Given the description of an element on the screen output the (x, y) to click on. 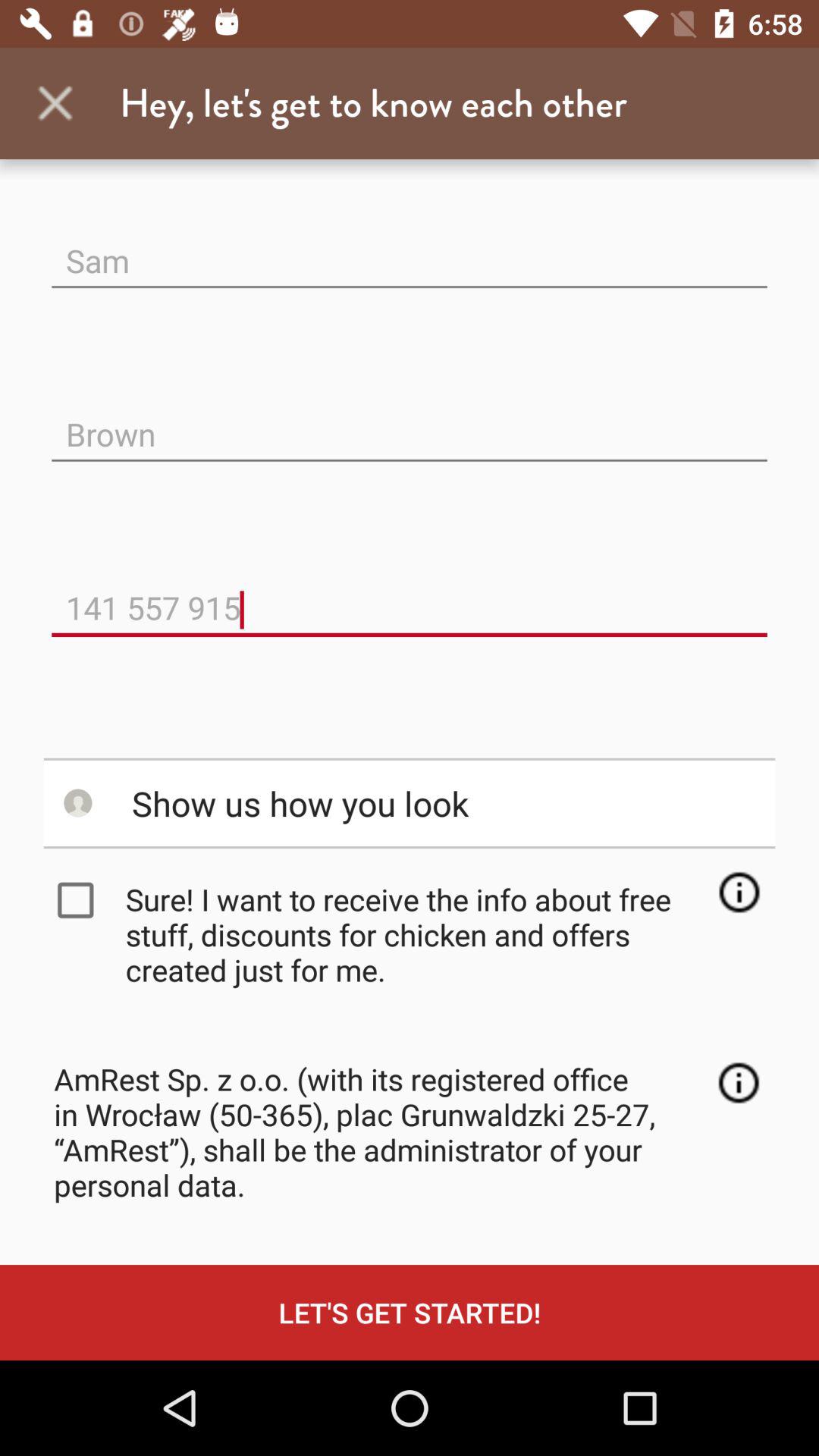
select more information (738, 1082)
